Given the description of an element on the screen output the (x, y) to click on. 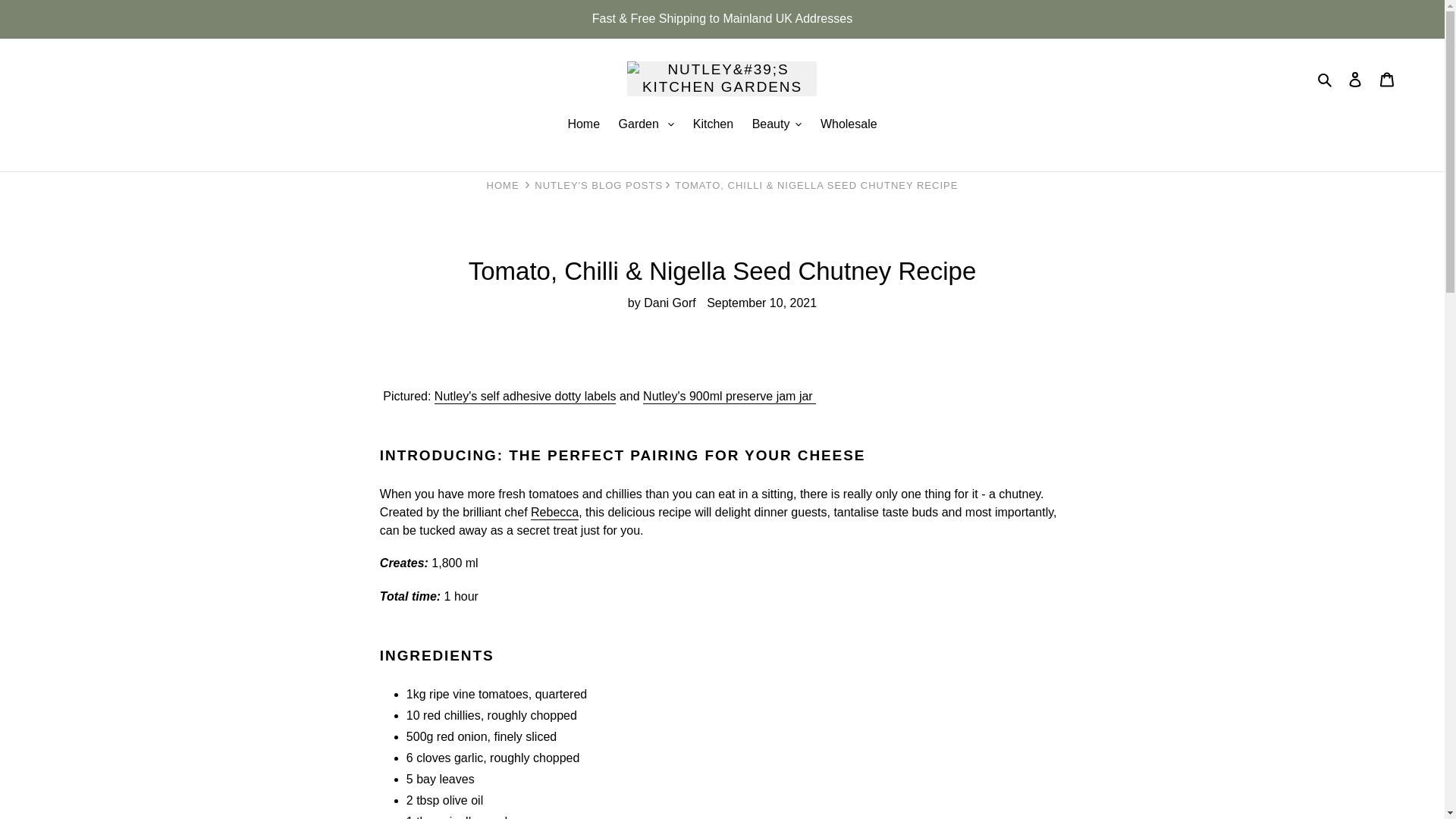
Log in (1355, 78)
Search (1326, 78)
Nutley's Kitchen Gardens (502, 185)
Cart (1387, 78)
